Given the description of an element on the screen output the (x, y) to click on. 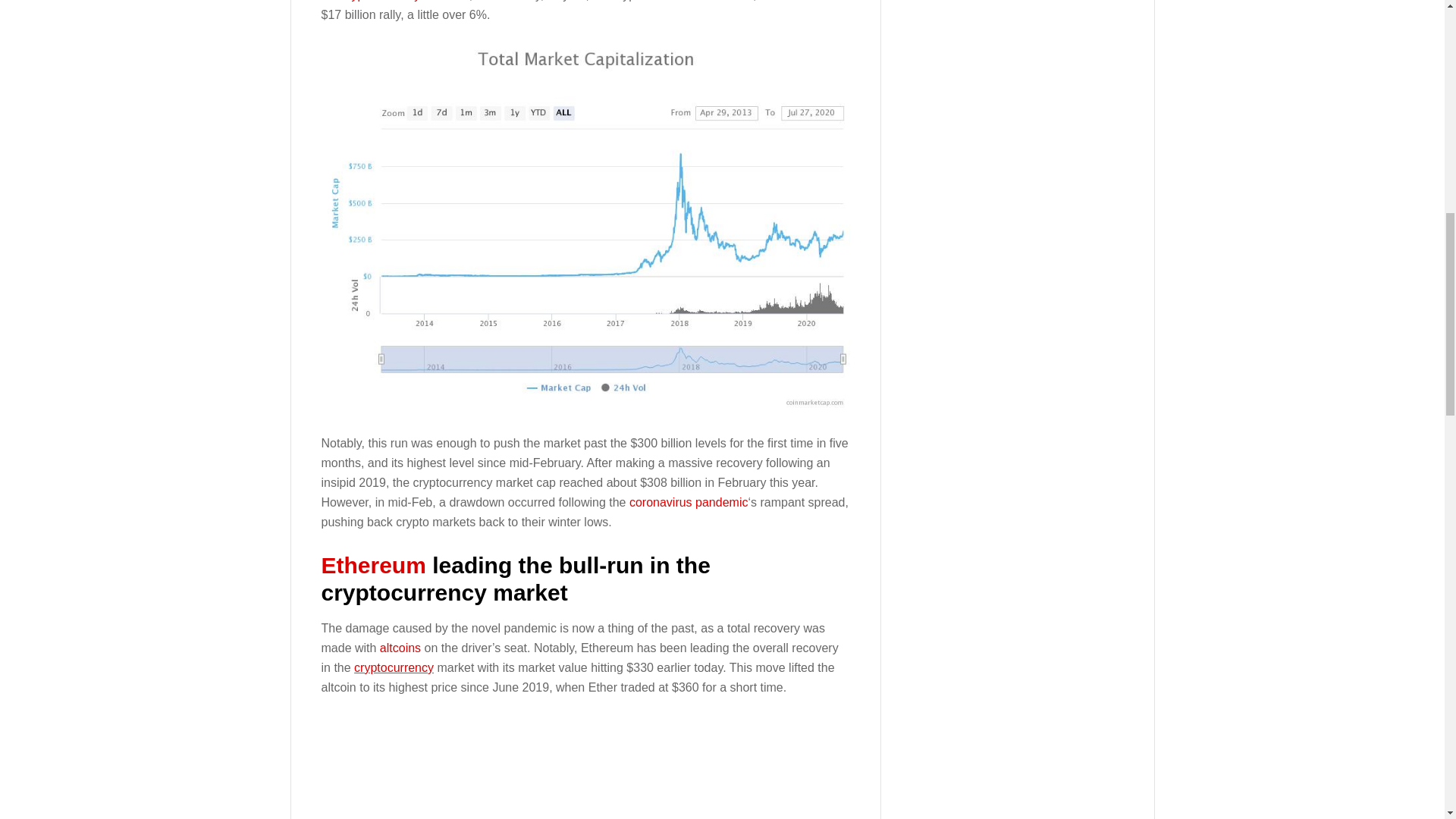
Ethereum (373, 565)
altcoins (397, 647)
crypto industry (378, 0)
coronavirus pandemic (687, 502)
cryptocurrency (393, 667)
